Given the description of an element on the screen output the (x, y) to click on. 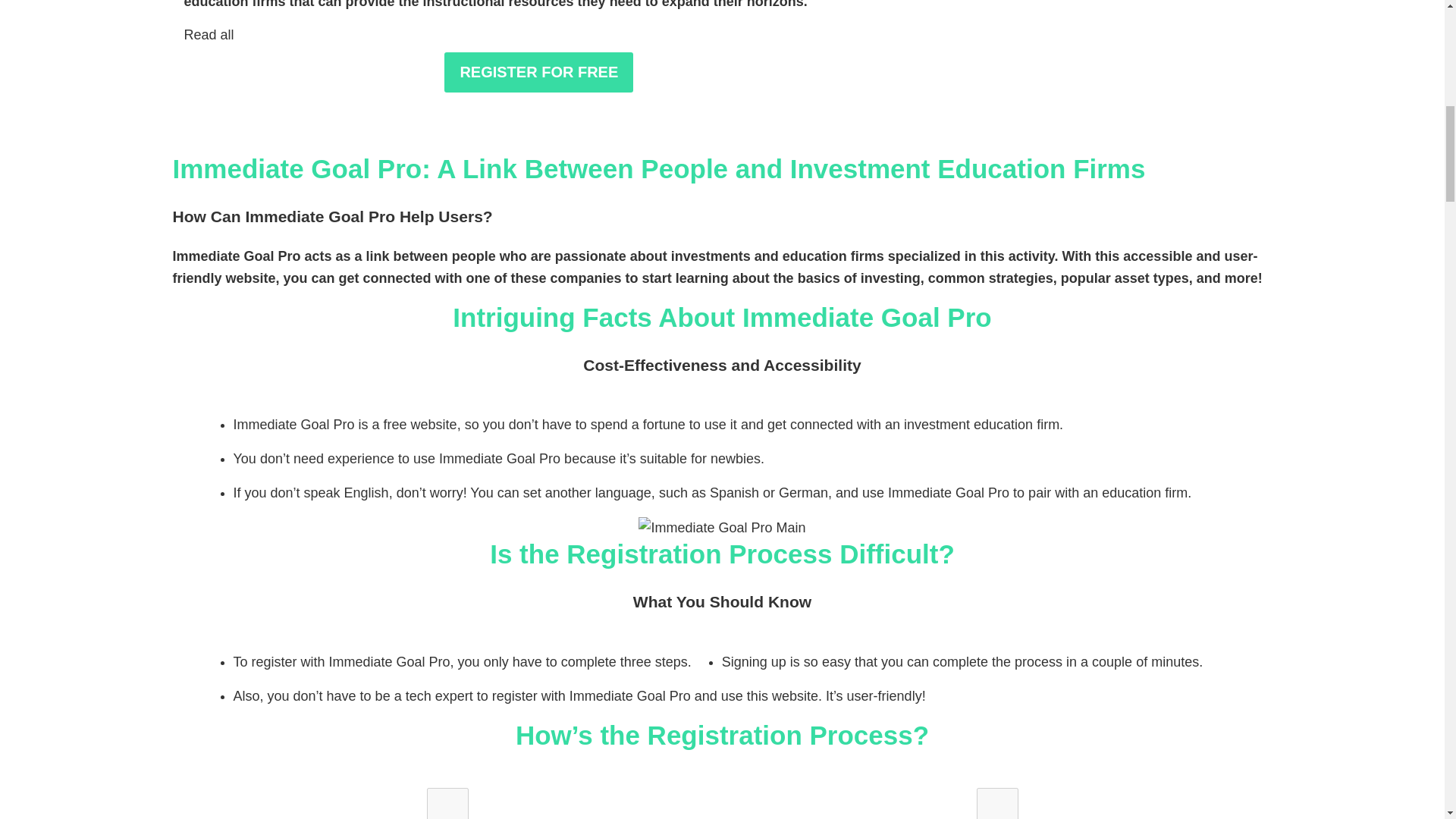
REGISTER FOR FREE (538, 72)
on (996, 803)
on (446, 803)
